Given the description of an element on the screen output the (x, y) to click on. 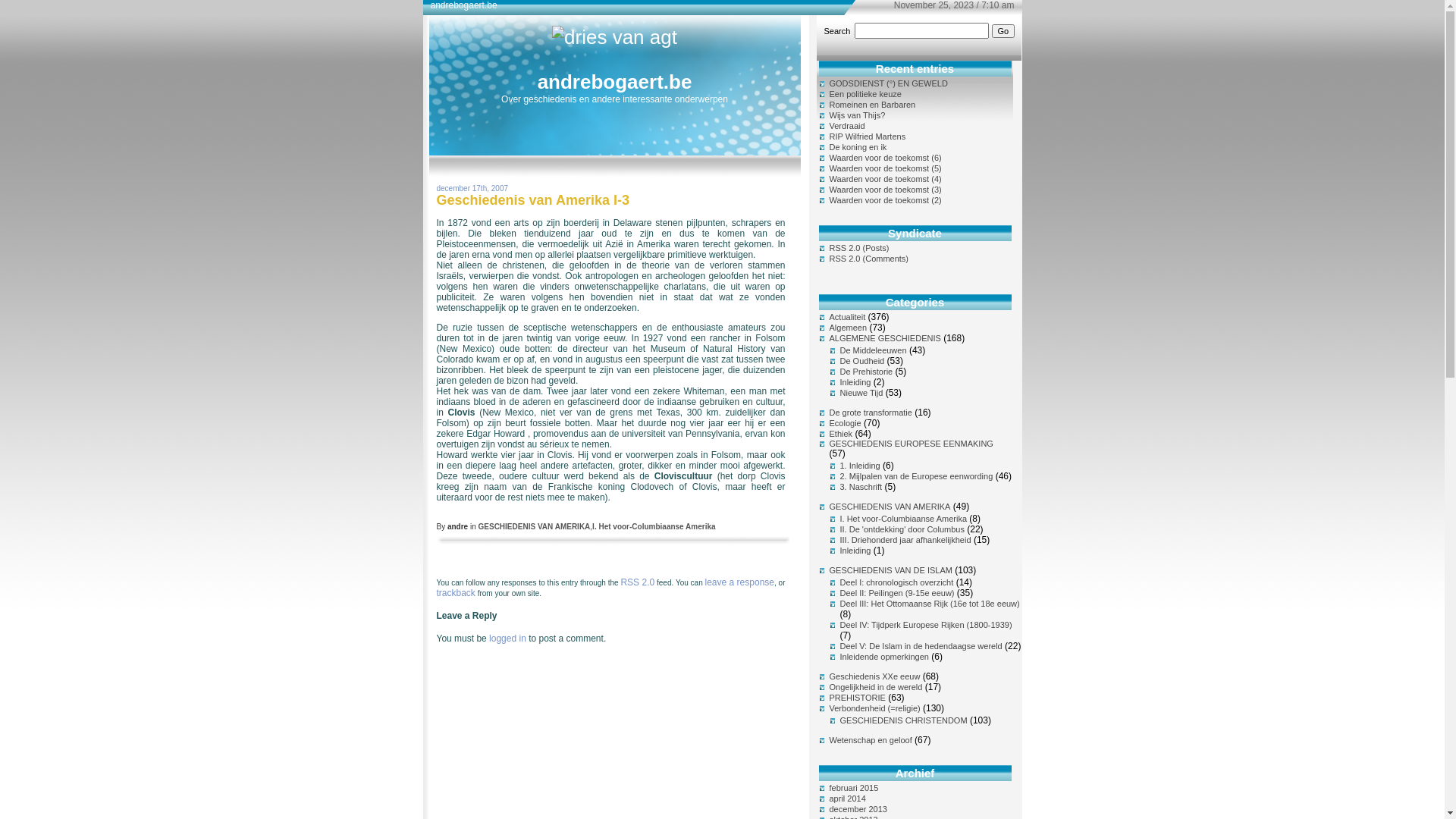
Romeinen en Barbaren Element type: text (872, 104)
GESCHIEDENIS VAN AMERIKA Element type: text (889, 506)
Actualiteit Element type: text (847, 316)
Wijs van Thijs? Element type: text (857, 114)
De grote transformatie Element type: text (870, 412)
trackback Element type: text (455, 592)
Go Element type: text (1003, 30)
Deel V: De Islam in de hedendaagse wereld Element type: text (921, 645)
Verbondenheid (=religie) Element type: text (874, 707)
Ecologie Element type: text (845, 422)
Inleiding Element type: text (855, 550)
Deel IV: Tijdperk Europese Rijken (1800-1939) Element type: text (926, 624)
RIP Wilfried Martens Element type: text (867, 136)
Geschiedenis van Amerika I-3 Element type: text (532, 199)
Ethiek Element type: text (841, 433)
RSS 2.0 (Comments) Element type: text (869, 258)
Deel II: Peilingen (9-15e eeuw) Element type: text (897, 592)
II. De 'ontdekking' door Columbus Element type: text (902, 528)
Geschiedenis XXe eeuw Element type: text (874, 675)
december 2013 Element type: text (858, 808)
Deel I: chronologisch overzicht Element type: text (896, 581)
Verdraaid Element type: text (847, 125)
De Middeleeuwen Element type: text (873, 349)
februari 2015 Element type: text (853, 787)
GESCHIEDENIS VAN AMERIKA Element type: text (534, 526)
1. Inleiding Element type: text (860, 465)
Waarden voor de toekomst (3) Element type: text (885, 189)
Inleiding Element type: text (855, 381)
PREHISTORIE Element type: text (857, 697)
GESCHIEDENIS CHRISTENDOM Element type: text (903, 719)
III. Driehonderd jaar afhankelijkheid Element type: text (905, 539)
logged in Element type: text (507, 638)
andrebogaert.be Element type: text (614, 81)
Waarden voor de toekomst (5) Element type: text (885, 167)
I. Het voor-Columbiaanse Amerika Element type: text (903, 518)
De Oudheid Element type: text (862, 360)
Nieuwe Tijd Element type: text (861, 392)
I. Het voor-Columbiaanse Amerika Element type: text (653, 526)
RSS 2.0 Element type: text (637, 582)
Ongelijkheid in de wereld Element type: text (875, 686)
Wetenschap en geloof Element type: text (870, 739)
GESCHIEDENIS EUROPESE EENMAKING Element type: text (911, 443)
De koning en ik Element type: text (858, 146)
leave a response Element type: text (739, 582)
GESCHIEDENIS VAN DE ISLAM Element type: text (890, 569)
2. Mijlpalen van de Europese eenwording Element type: text (916, 475)
Waarden voor de toekomst (2) Element type: text (885, 199)
3. Naschrift Element type: text (861, 486)
RSS 2.0 (Posts) Element type: text (859, 247)
Waarden voor de toekomst (4) Element type: text (885, 178)
De Prehistorie Element type: text (866, 371)
Deel III: Het Ottomaanse Rijk (16e tot 18e eeuw) Element type: text (929, 603)
Een politieke keuze Element type: text (865, 93)
Inleidende opmerkingen Element type: text (884, 656)
Waarden voor de toekomst (6) Element type: text (885, 157)
Algemeen Element type: text (848, 327)
ALGEMENE GESCHIEDENIS Element type: text (885, 337)
april 2014 Element type: text (847, 798)
